Given the description of an element on the screen output the (x, y) to click on. 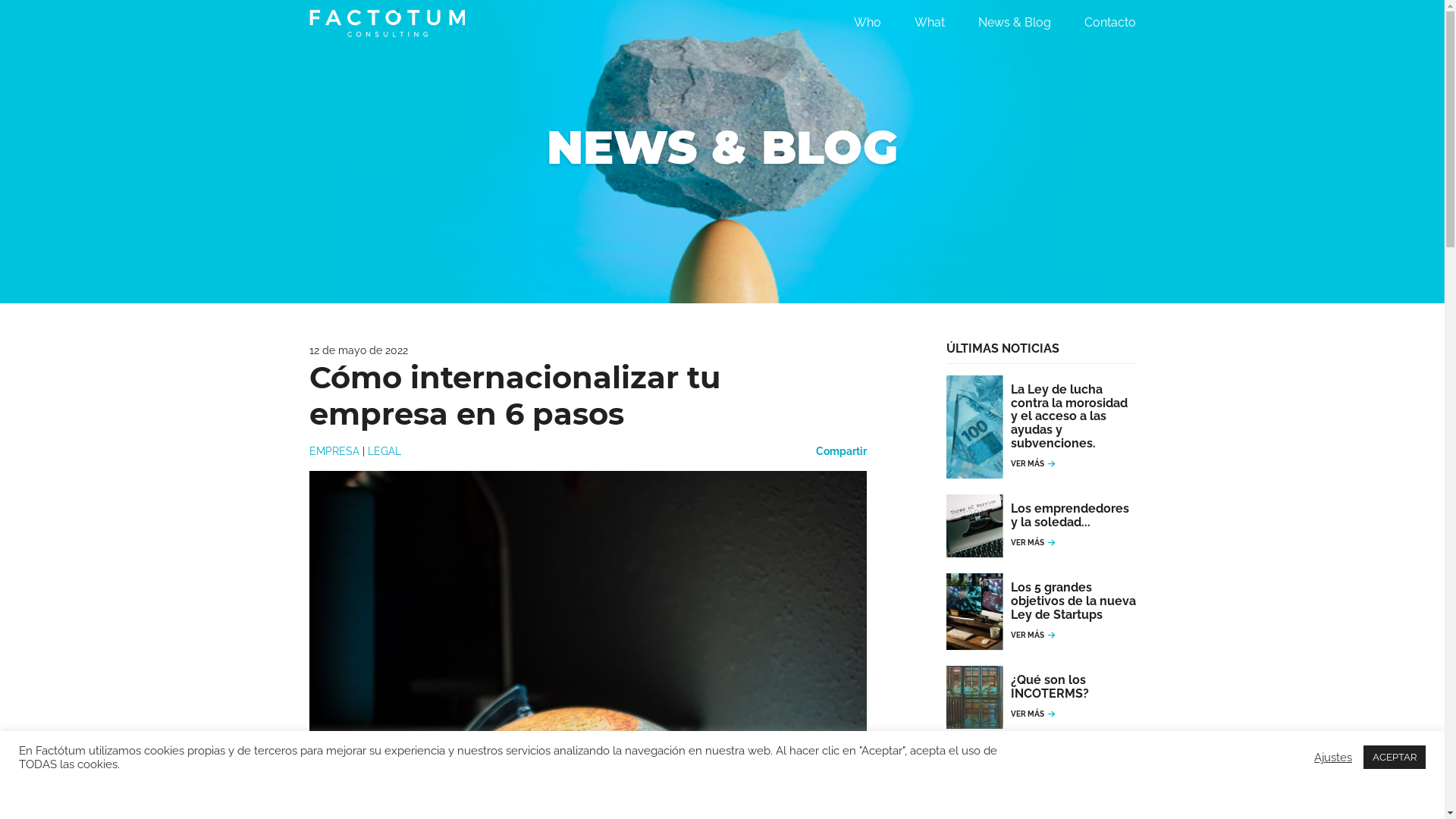
Compartir Element type: text (840, 451)
EMPRESA Element type: text (334, 451)
News & Blog Element type: text (1014, 22)
Who Element type: text (867, 22)
LEGAL Element type: text (383, 451)
Contacto Element type: text (1109, 22)
ACEPTAR Element type: text (1394, 756)
What Element type: text (929, 22)
Ajustes Element type: text (1333, 757)
